Given the description of an element on the screen output the (x, y) to click on. 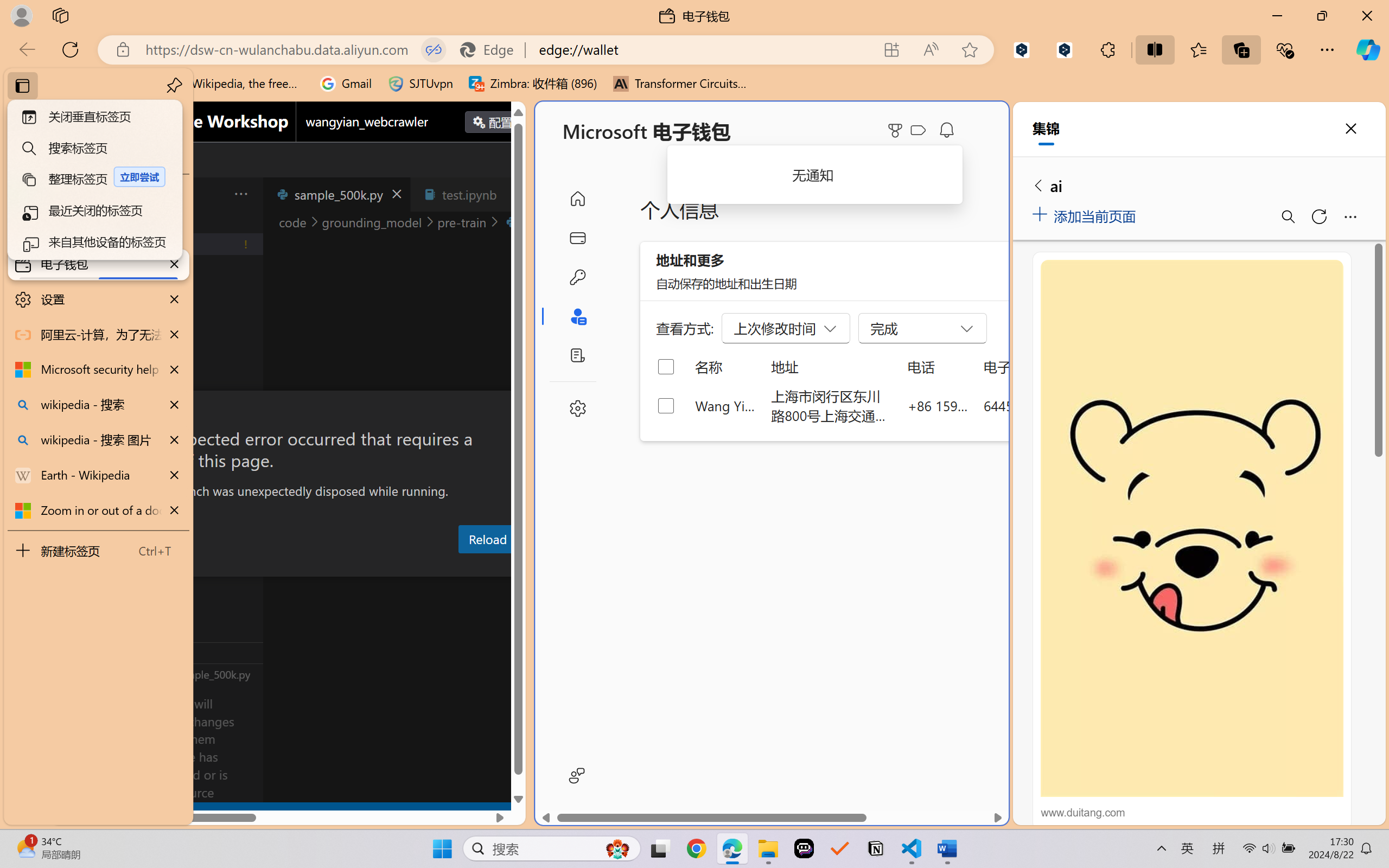
Wang Yian (725, 405)
Views and More Actions... (240, 193)
Close Dialog (520, 410)
Reload (486, 538)
Transformer Circuits Thread (680, 83)
sample_500k.py (336, 194)
